Given the description of an element on the screen output the (x, y) to click on. 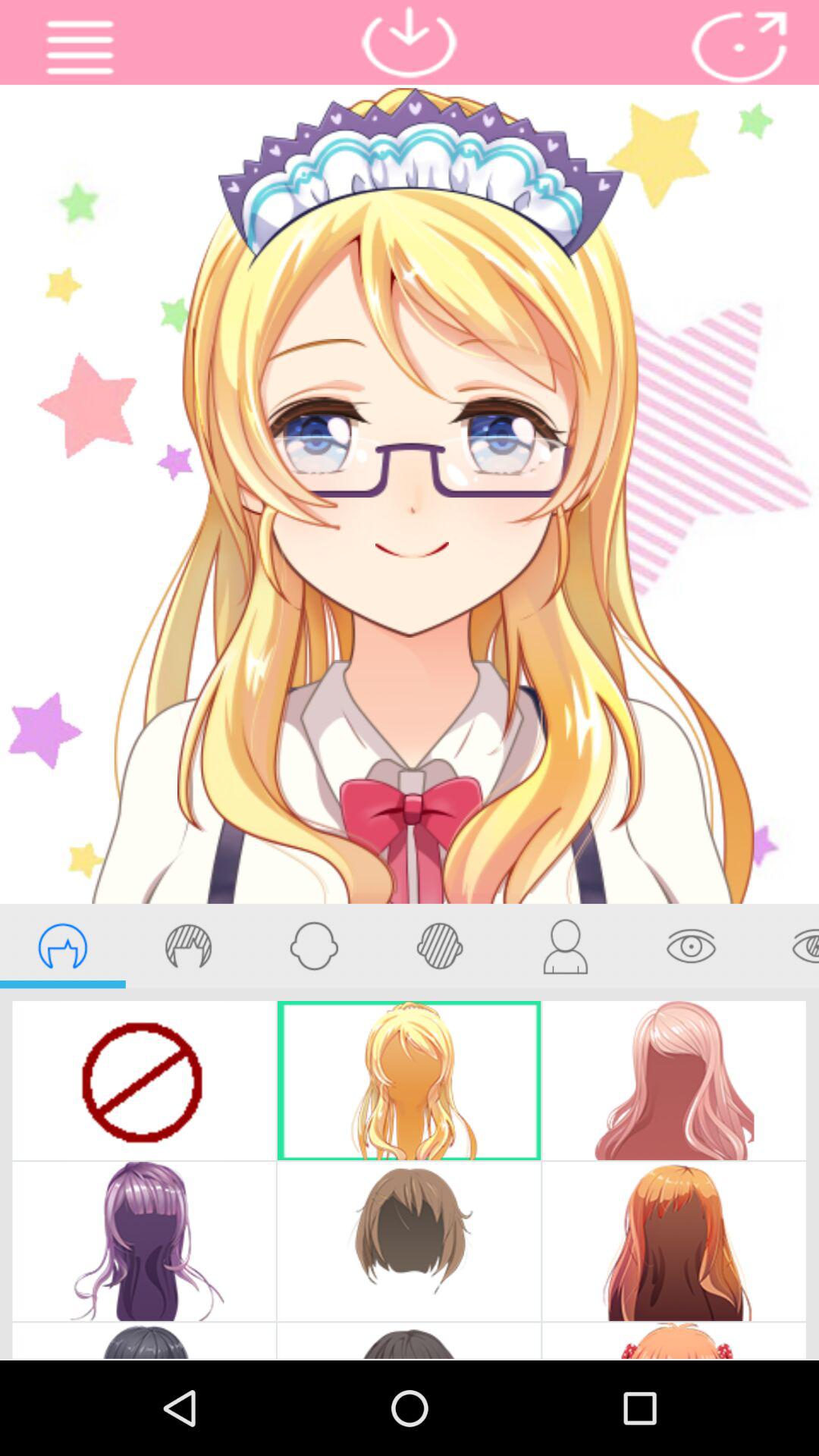
hair color (188, 945)
